Given the description of an element on the screen output the (x, y) to click on. 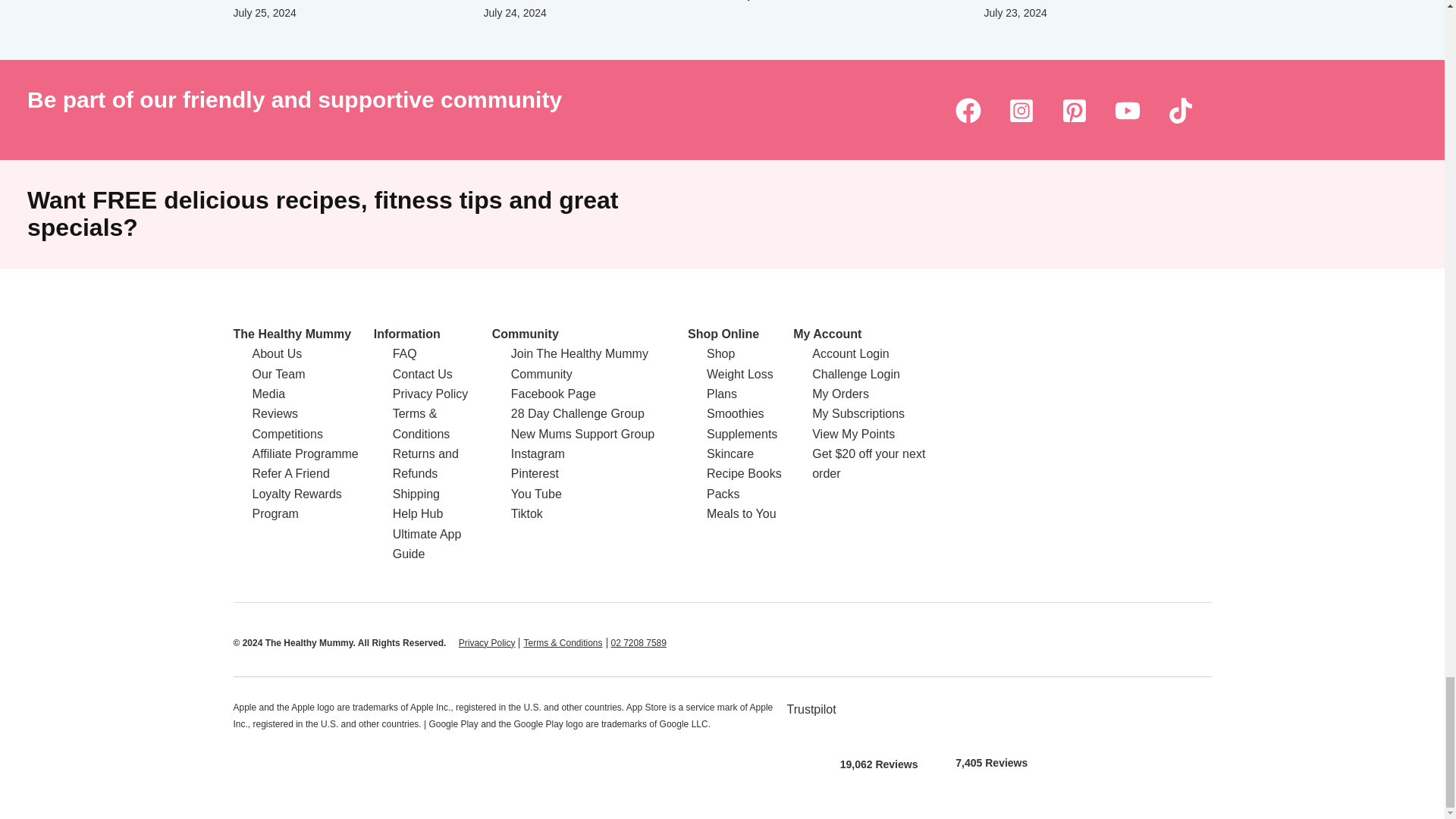
The Healthy Mummy (292, 333)
Privacy Policy (486, 643)
Instagram (1020, 110)
You Tube (1127, 110)
download on google play (991, 717)
Join Our Affiliate Programme (304, 453)
TikTok (1180, 110)
Facebook (968, 110)
Pinterest (1074, 110)
download on apple (879, 719)
